Given the description of an element on the screen output the (x, y) to click on. 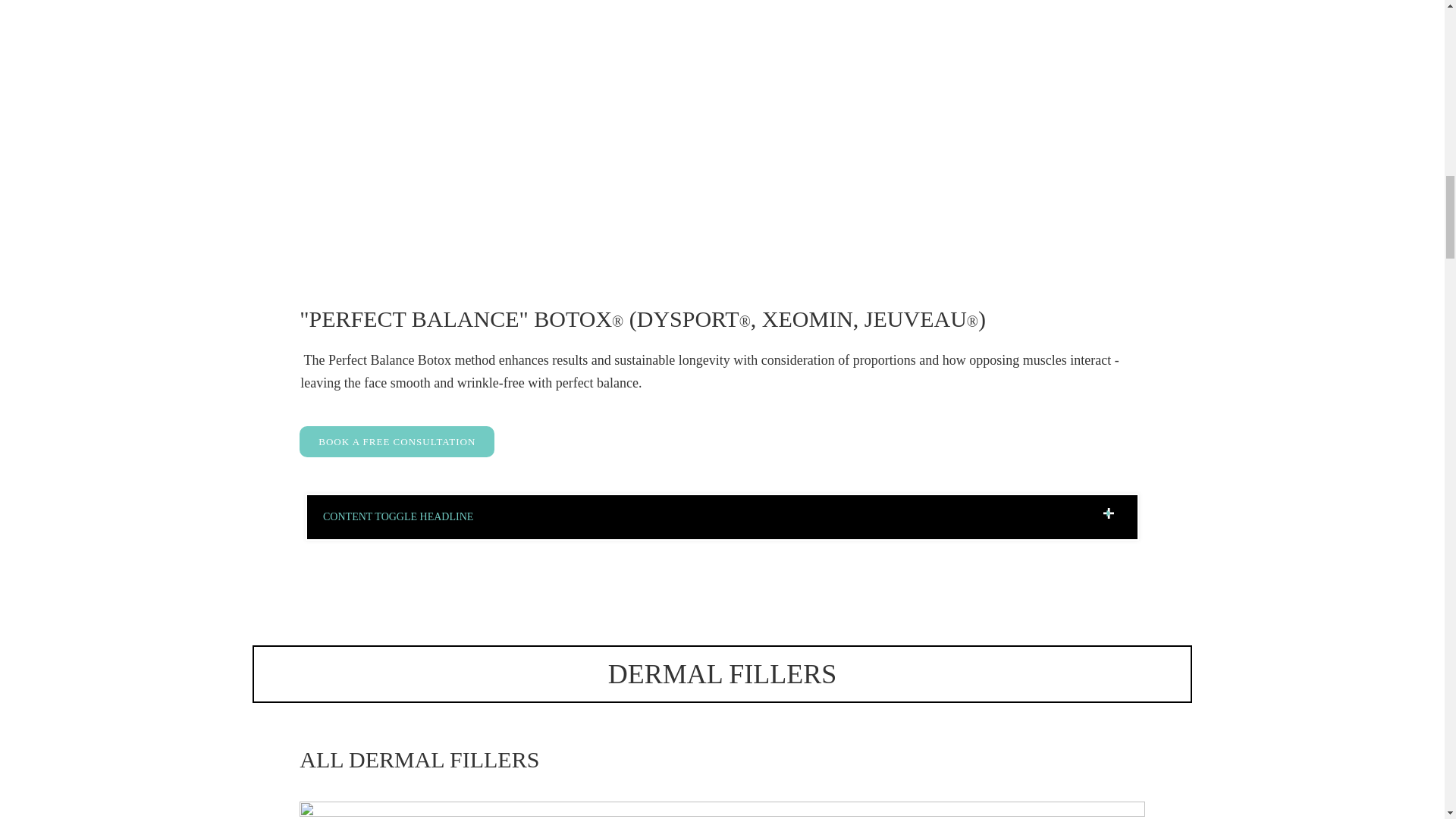
BOOK A FREE CONSULTATION (397, 441)
